Given the description of an element on the screen output the (x, y) to click on. 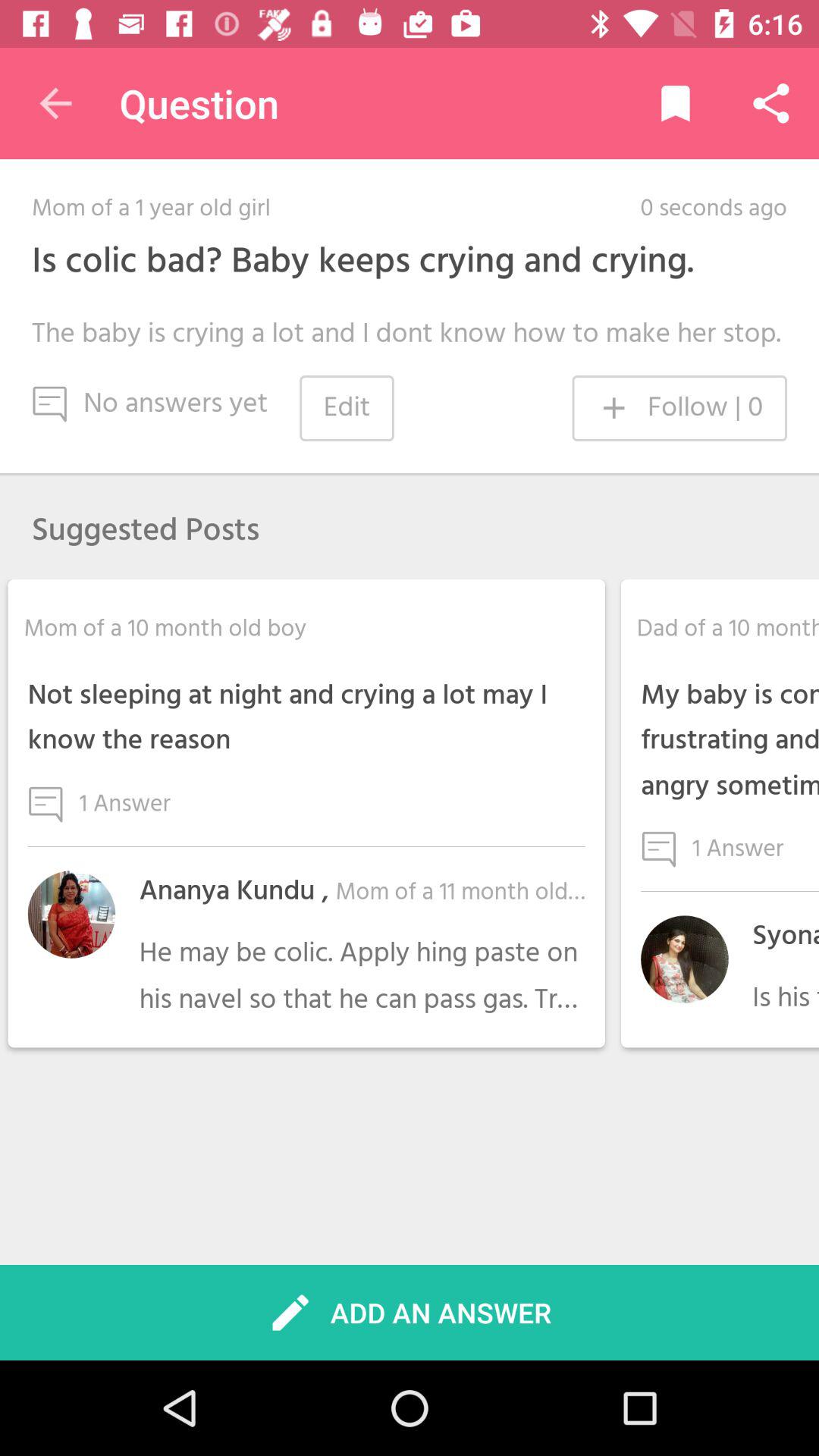
turn off item next to question item (55, 103)
